Given the description of an element on the screen output the (x, y) to click on. 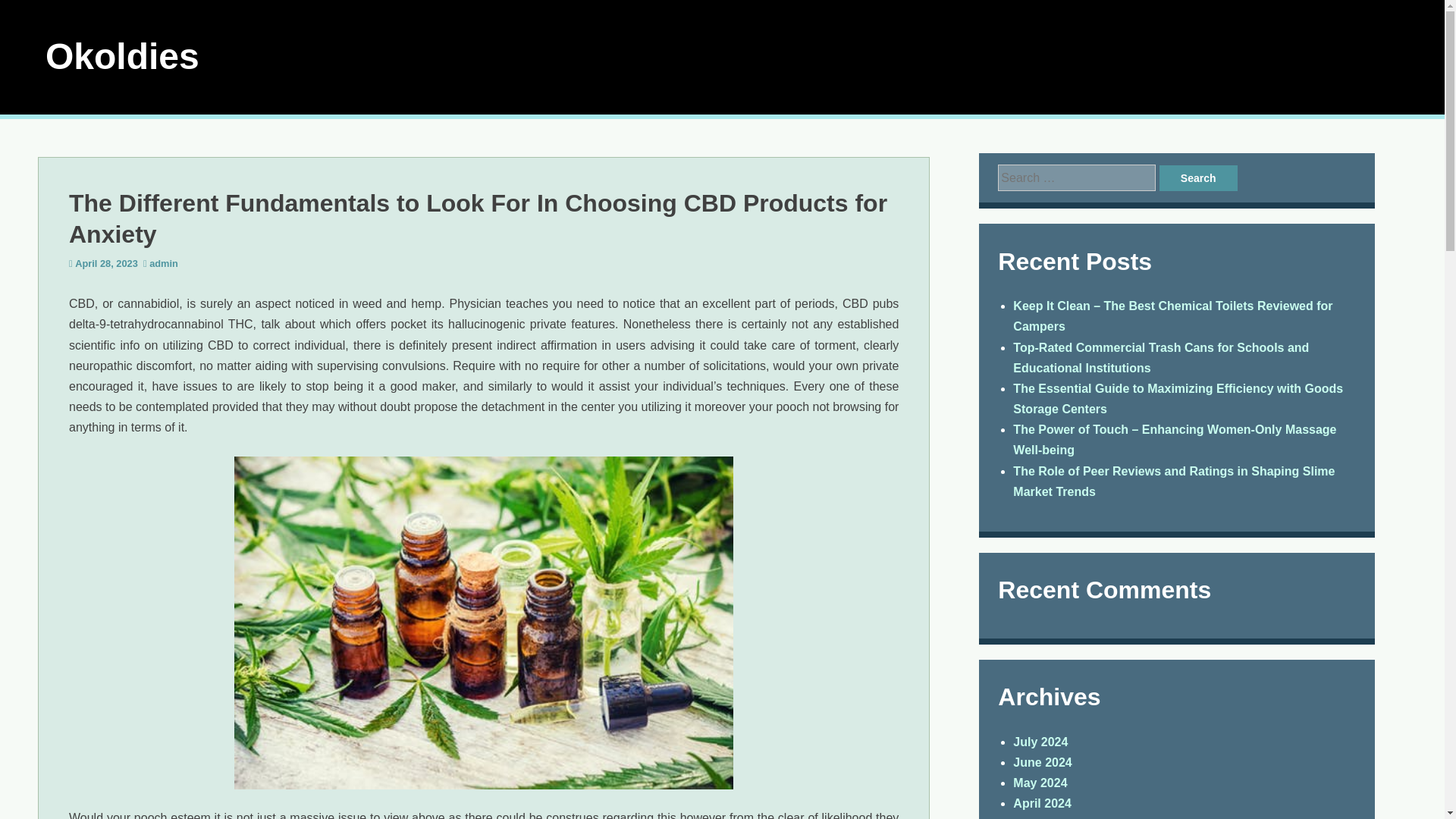
June 2024 (1042, 762)
Search (1197, 177)
July 2024 (1040, 741)
admin (163, 263)
April 2024 (1041, 802)
March 2024 (1045, 818)
Search (1197, 177)
May 2024 (1040, 782)
Okoldies (122, 56)
April 28, 2023 (106, 263)
